Given the description of an element on the screen output the (x, y) to click on. 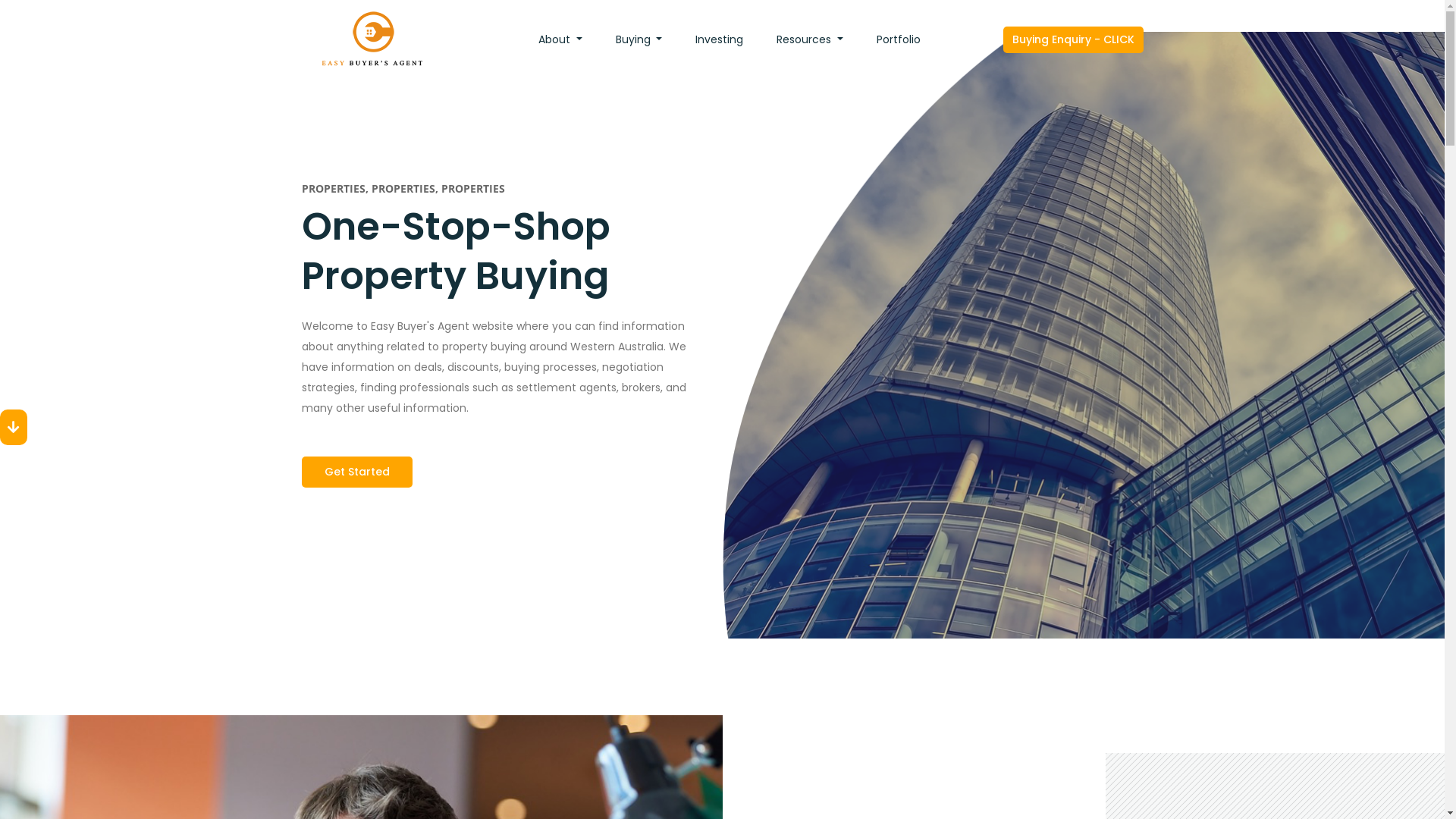
Buying Enquiry - CLICK Element type: text (1072, 39)
Investing Element type: text (718, 39)
Get Started Element type: text (356, 471)
Portfolio Element type: text (898, 39)
About Element type: text (560, 39)
Buying Element type: text (639, 39)
Resources Element type: text (809, 39)
